Given the description of an element on the screen output the (x, y) to click on. 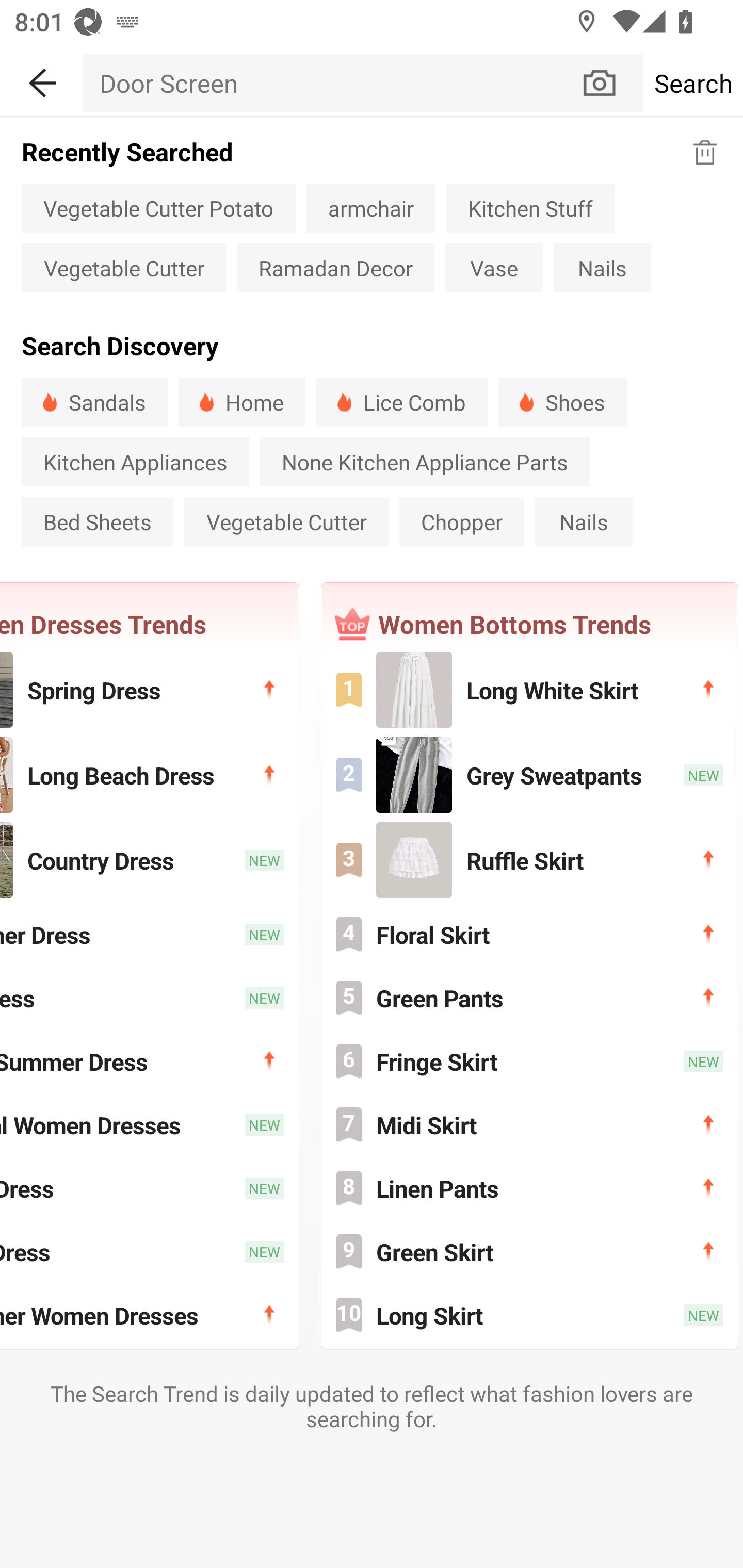
BACK (41, 79)
Door Screen (331, 82)
Search (692, 82)
Vegetable Cutter Potato (158, 207)
armchair (370, 207)
Kitchen Stuff (530, 207)
Vegetable Cutter (123, 268)
Ramadan Decor (335, 268)
Vase (494, 268)
Nails (601, 268)
Sandals (94, 401)
Home (241, 401)
Lice Comb (401, 401)
Shoes (562, 401)
Kitchen Appliances (134, 461)
None Kitchen Appliance Parts (424, 461)
Bed Sheets (97, 521)
Vegetable Cutter (286, 521)
Chopper (461, 521)
Nails (583, 521)
Spring Dress (148, 689)
Long White Skirt 1 Long White Skirt (529, 689)
Long Beach Dress (148, 774)
Grey Sweatpants 2 Grey Sweatpants NEW (529, 774)
Country Dress Country Dress NEW (148, 859)
Ruffle Skirt 3 Ruffle Skirt (529, 859)
Summer Dress Summer Dress NEW (148, 934)
Floral Skirt 4 Floral Skirt (529, 934)
Sundress Sundress NEW (148, 997)
Green Pants 5 Green Pants (529, 997)
Long Summer Dress (148, 1061)
Fringe Skirt 6 Fringe Skirt NEW (529, 1061)
Casual Women Dresses Casual Women Dresses NEW (148, 1124)
Midi Skirt 7 Midi Skirt (529, 1124)
Tube Dress Tube Dress NEW (148, 1187)
Linen Pants 8 Linen Pants (529, 1187)
Grey Dress Grey Dress NEW (148, 1250)
Green Skirt 9 Green Skirt (529, 1250)
Summer Women Dresses (148, 1314)
Long Skirt 10 Long Skirt NEW (529, 1314)
